Given the description of an element on the screen output the (x, y) to click on. 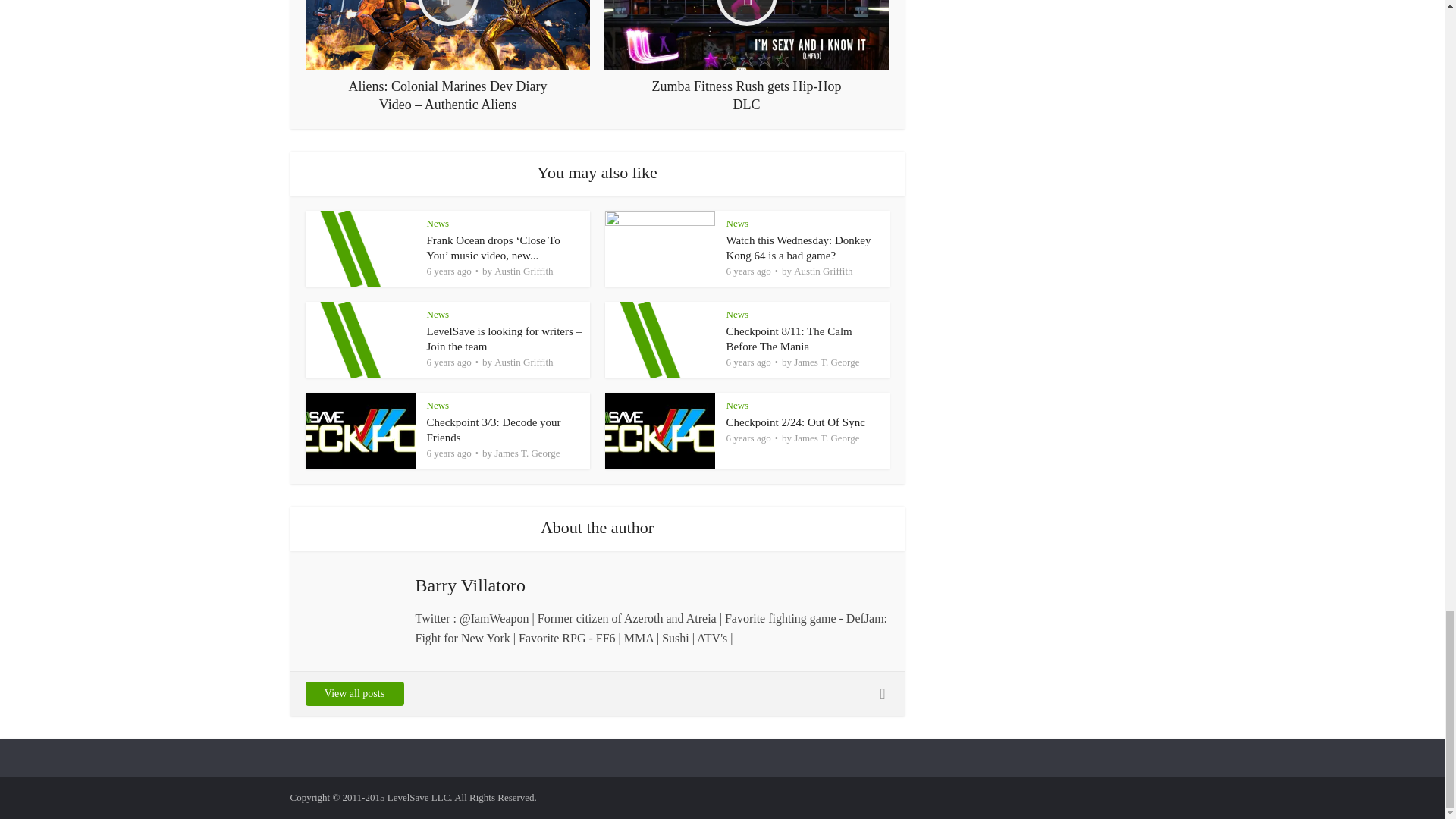
Watch this Wednesday: Donkey Kong 64 is a bad game? (798, 247)
Austin Griffith (524, 270)
News (437, 223)
Zumba Fitness Rush gets Hip-Hop DLC (746, 56)
News (737, 223)
